Given the description of an element on the screen output the (x, y) to click on. 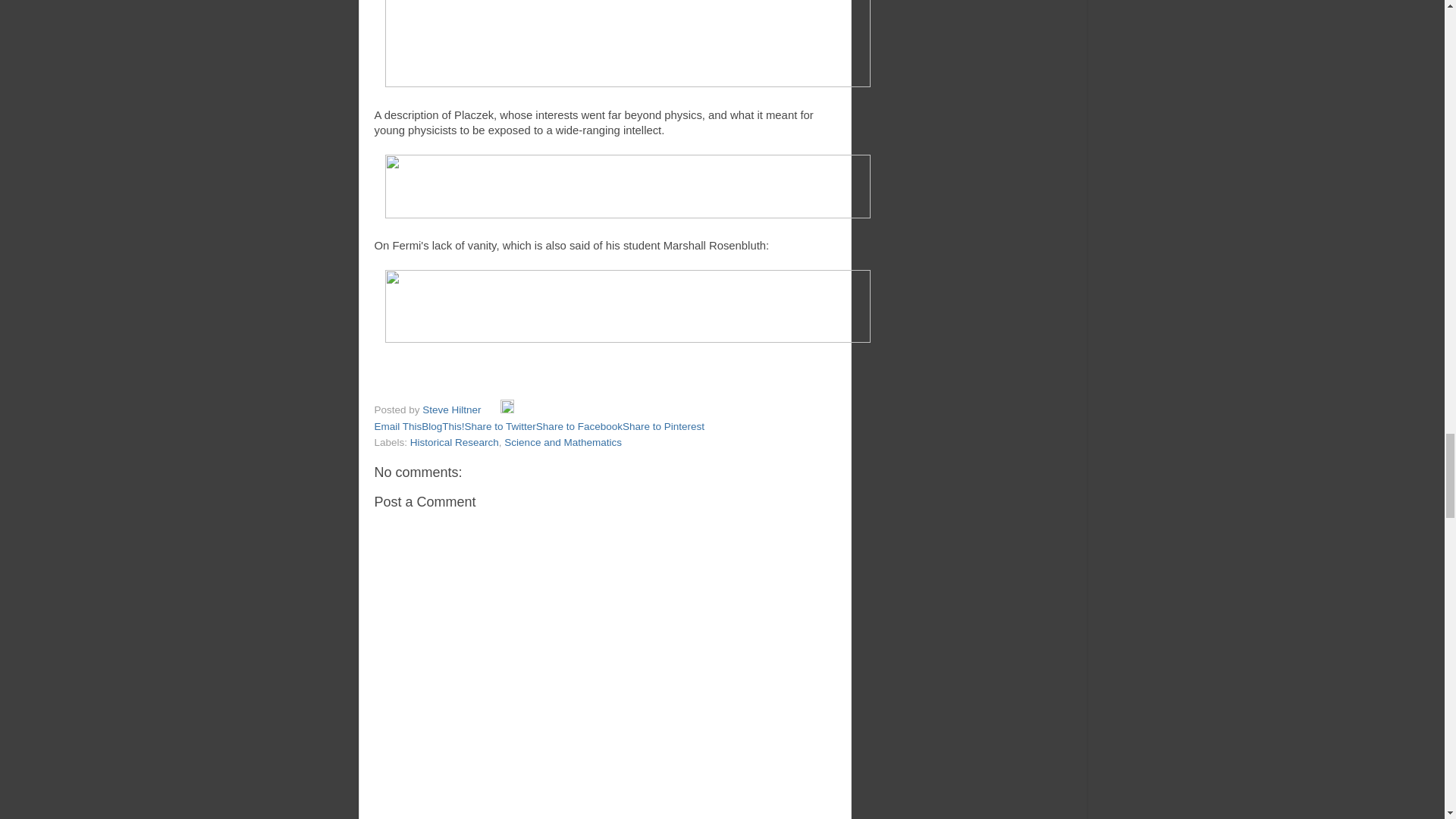
Email This (398, 426)
BlogThis! (443, 426)
Email This (398, 426)
Share to Facebook (579, 426)
Edit Post (506, 409)
Share to Twitter (499, 426)
Share to Pinterest (663, 426)
Share to Facebook (579, 426)
Share to Twitter (499, 426)
author profile (452, 409)
Steve Hiltner (452, 409)
BlogThis! (443, 426)
Email Post (491, 409)
